Given the description of an element on the screen output the (x, y) to click on. 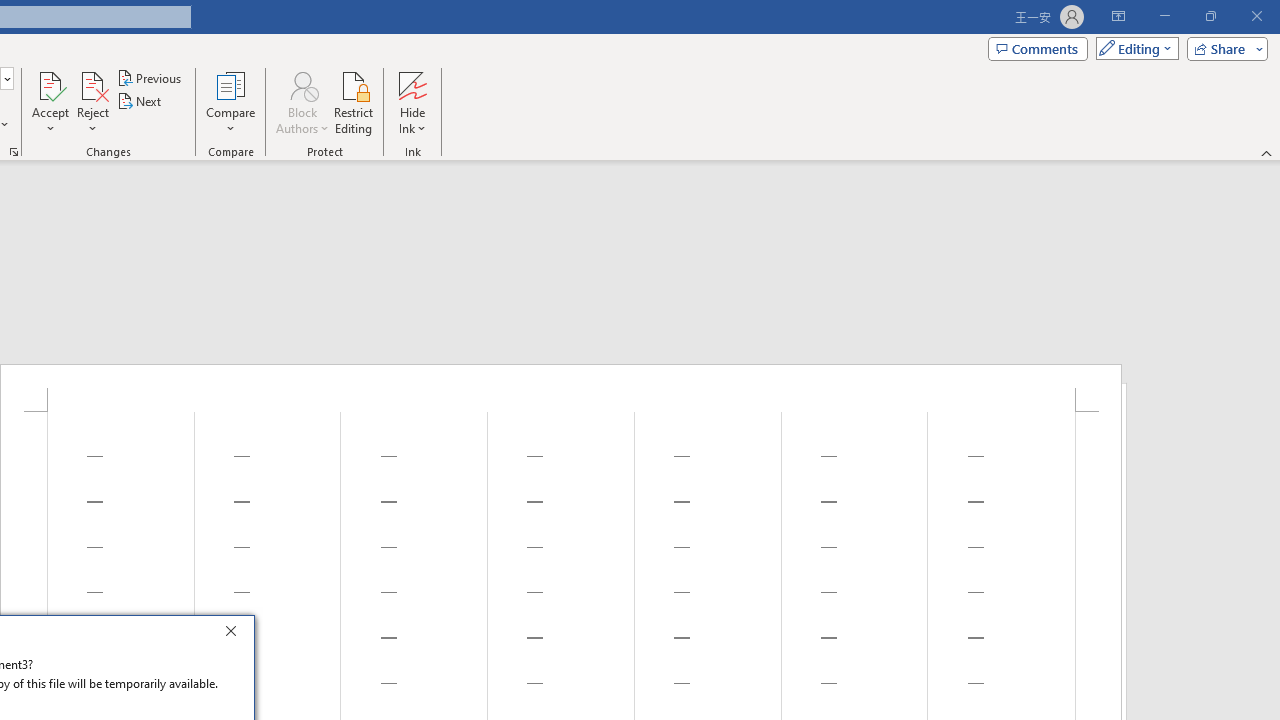
Change Tracking Options... (13, 151)
Accept and Move to Next (50, 84)
Previous (150, 78)
Next (140, 101)
Compare (230, 102)
Mode (1133, 47)
Restrict Editing (353, 102)
